Given the description of an element on the screen output the (x, y) to click on. 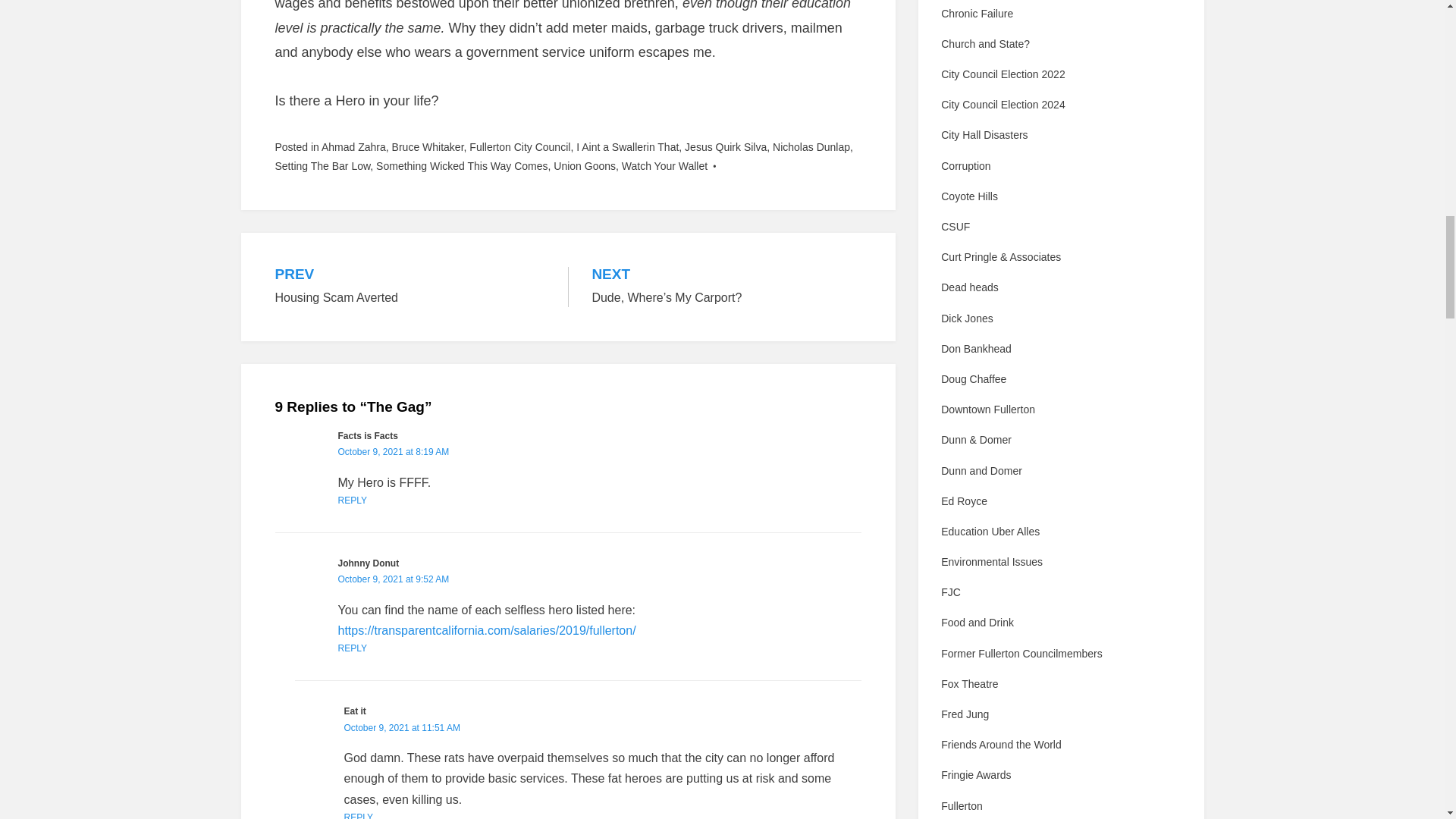
October 9, 2021 at 9:52 AM (409, 286)
REPLY (393, 579)
REPLY (351, 500)
Nicholas Dunlap (357, 815)
Something Wicked This Way Comes (811, 146)
Watch Your Wallet (461, 165)
I Aint a Swallerin That (664, 165)
REPLY (627, 146)
Setting The Bar Low (351, 647)
